Given the description of an element on the screen output the (x, y) to click on. 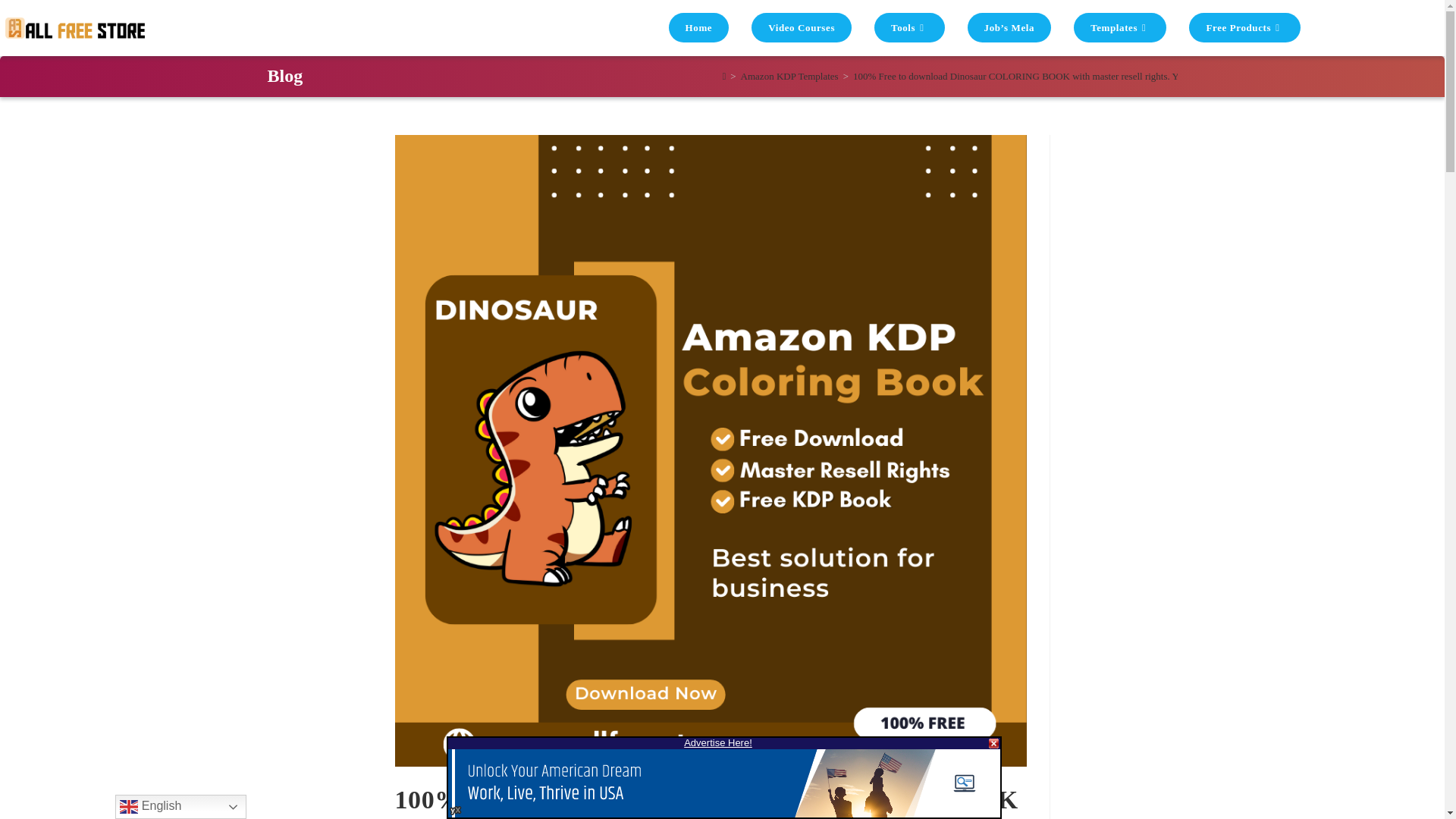
Home (699, 28)
Free Products (1244, 28)
Templates (1119, 28)
Video Courses (801, 28)
Tools (909, 28)
Advertise Here! (718, 742)
